Given the description of an element on the screen output the (x, y) to click on. 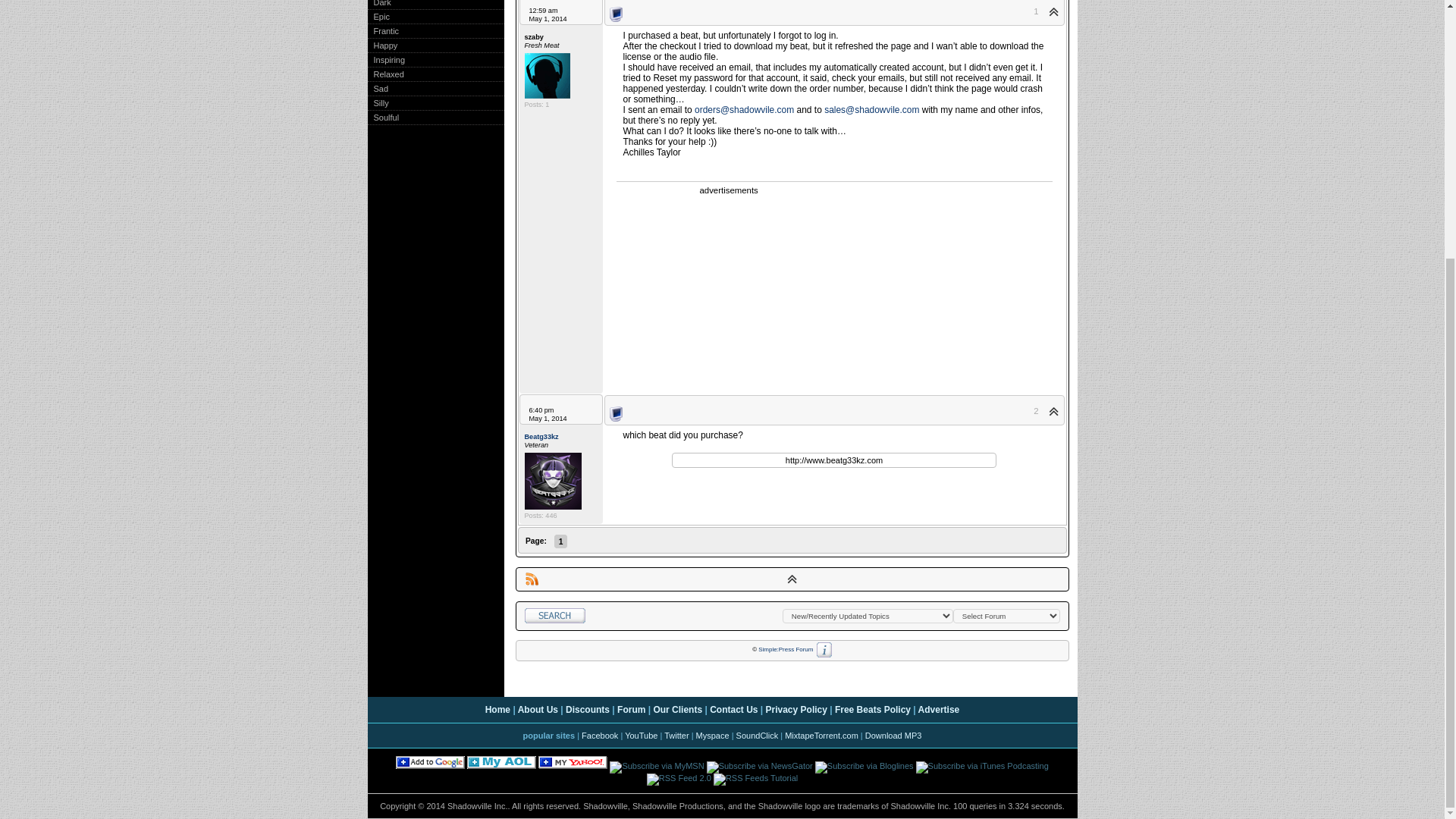
Happy (381, 44)
Sad (377, 88)
Dark (378, 3)
Soulful (382, 117)
Epic (377, 16)
Relaxed (384, 73)
Silly (377, 102)
Inspiring (385, 59)
Frantic (382, 31)
